Given the description of an element on the screen output the (x, y) to click on. 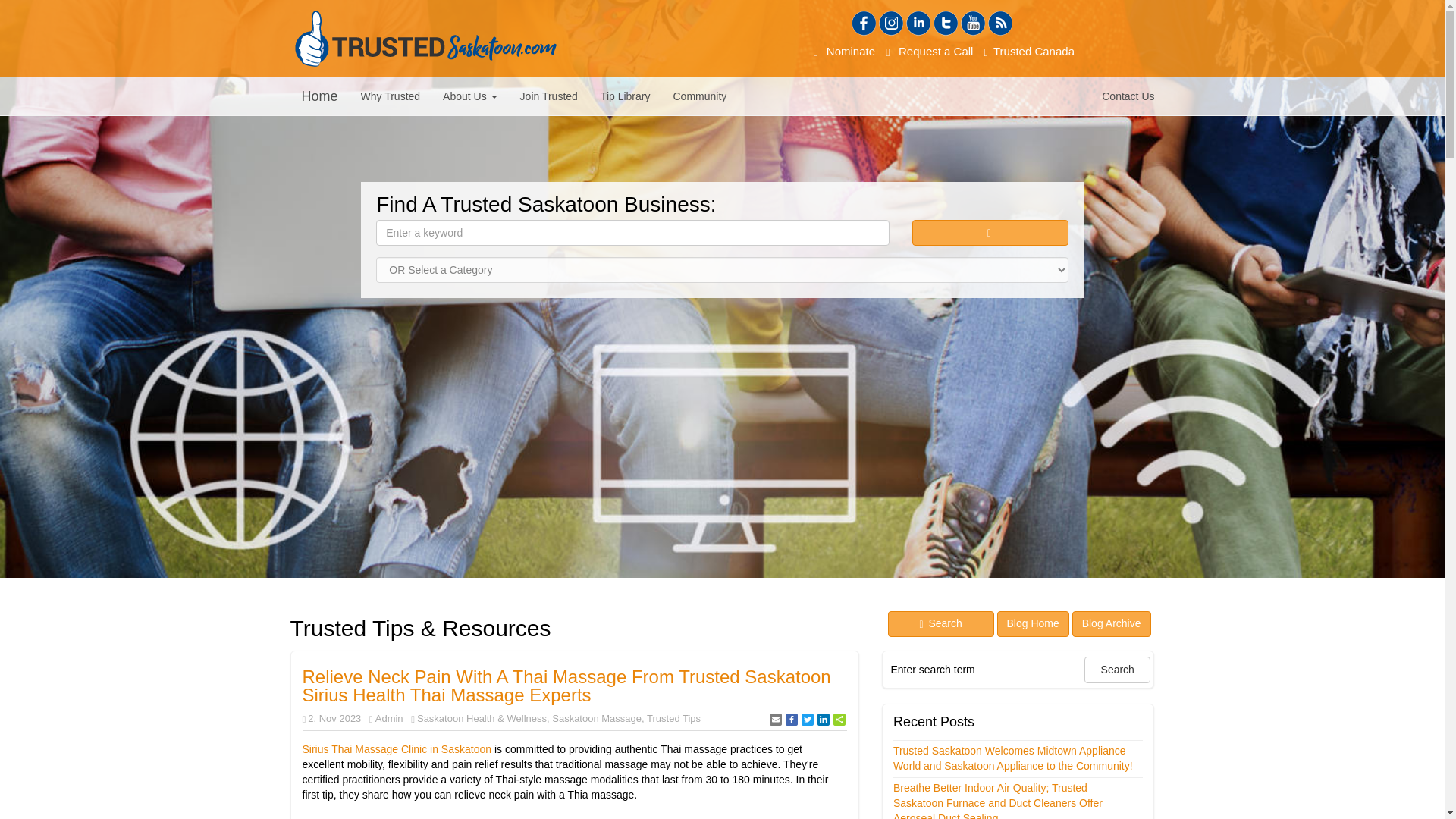
Tip Library (625, 95)
Linked In (917, 23)
Why Trusted (390, 95)
Search (990, 232)
RSS Feed (999, 23)
Saskatoon Massage (596, 717)
Follow us on Facebook (863, 23)
Trusted Canada (1028, 51)
Trusted Saskatoon (424, 38)
Twitter (945, 23)
Home (319, 95)
YouTube (972, 23)
Join Trusted (548, 95)
Enter search term (984, 669)
